Given the description of an element on the screen output the (x, y) to click on. 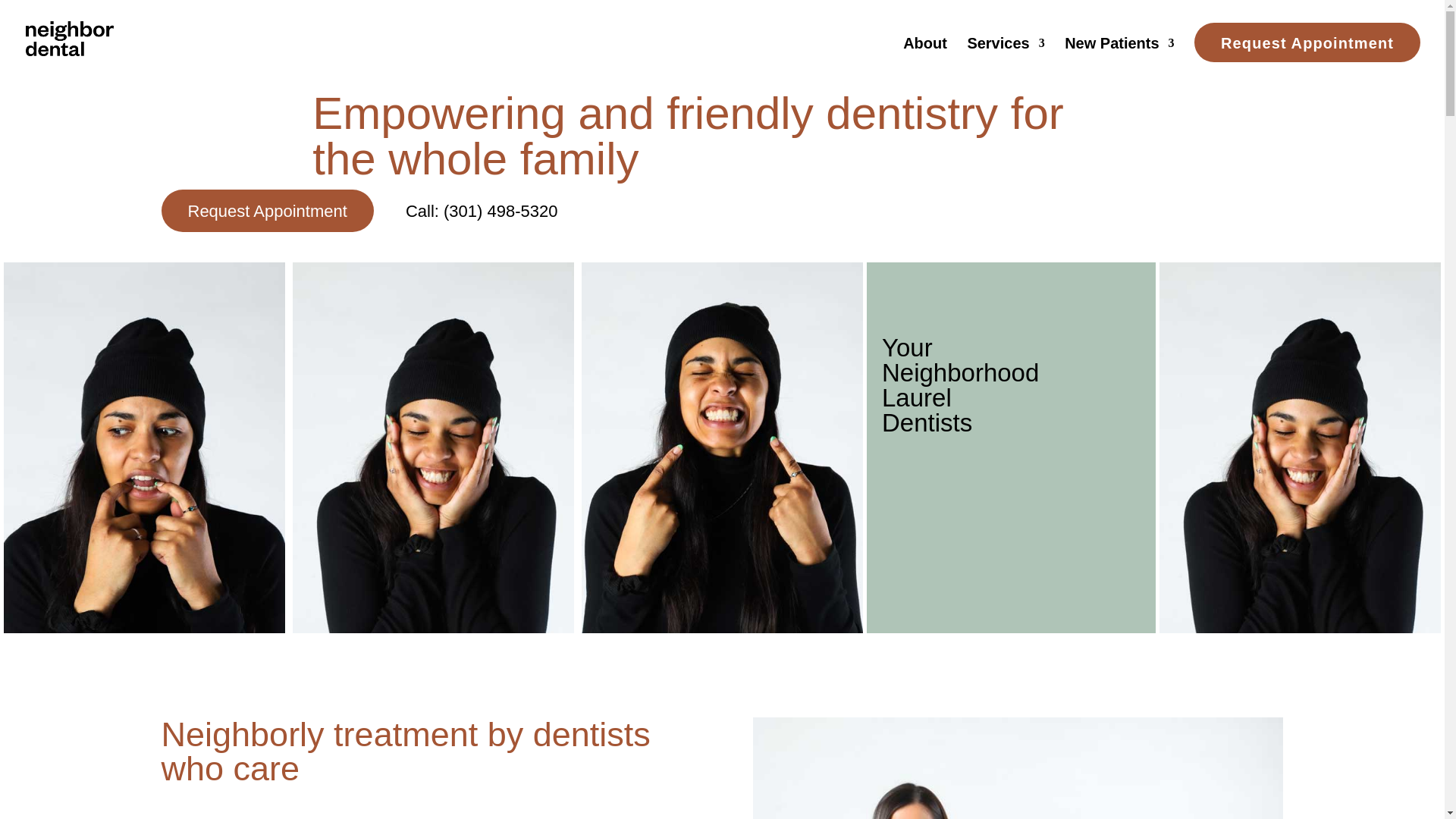
helloneighbor-06 (721, 447)
About (924, 54)
New Patients (1118, 54)
Services (1004, 54)
laurel tooth extractions neighbor dental (432, 447)
laurel root canal dentist neighbor dental (144, 447)
